Given the description of an element on the screen output the (x, y) to click on. 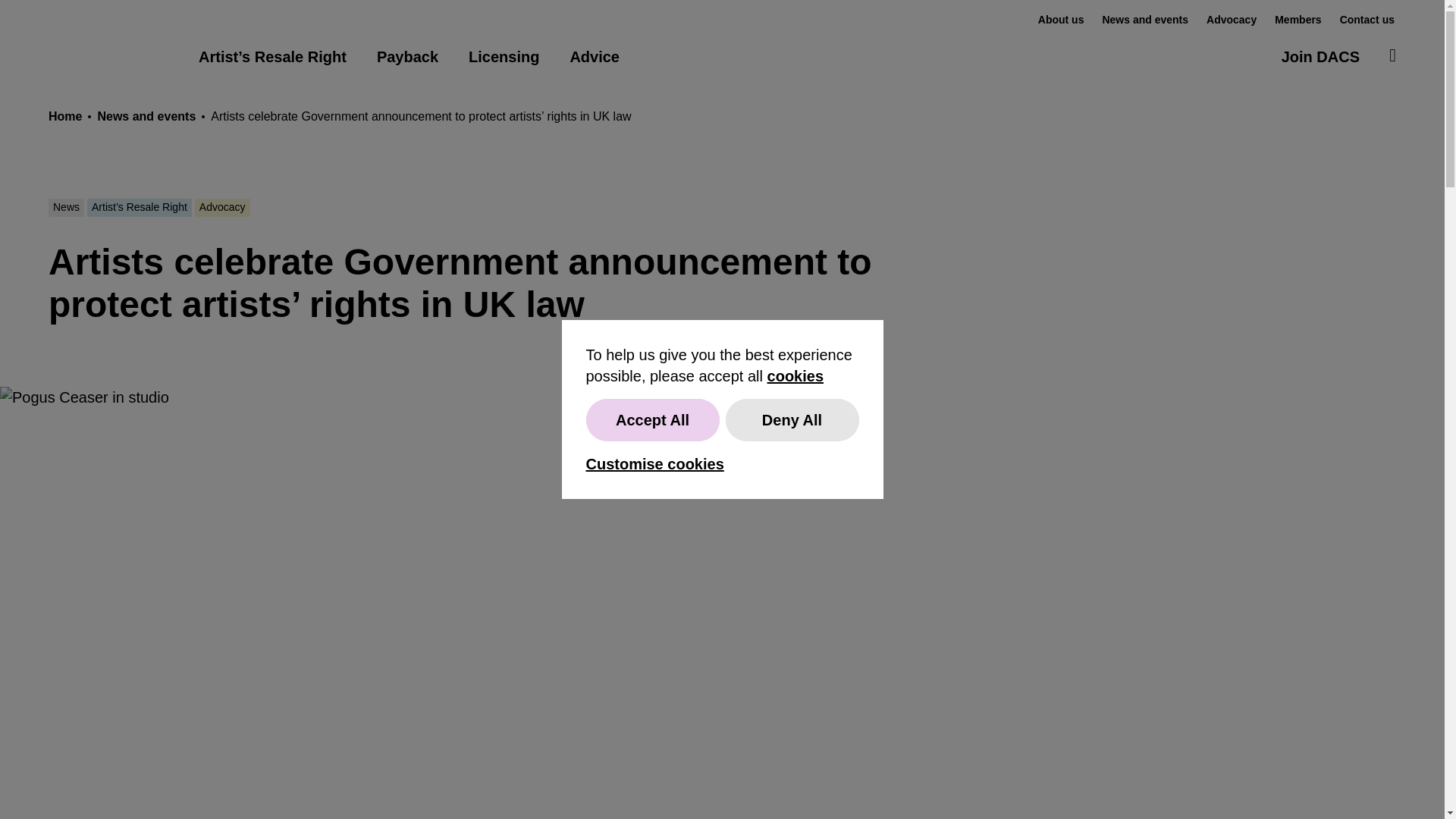
Customise cookies (654, 464)
Licensing (504, 55)
Deny All (792, 419)
Payback (407, 55)
Accept All (652, 419)
Advice (594, 55)
cookies (795, 375)
